Given the description of an element on the screen output the (x, y) to click on. 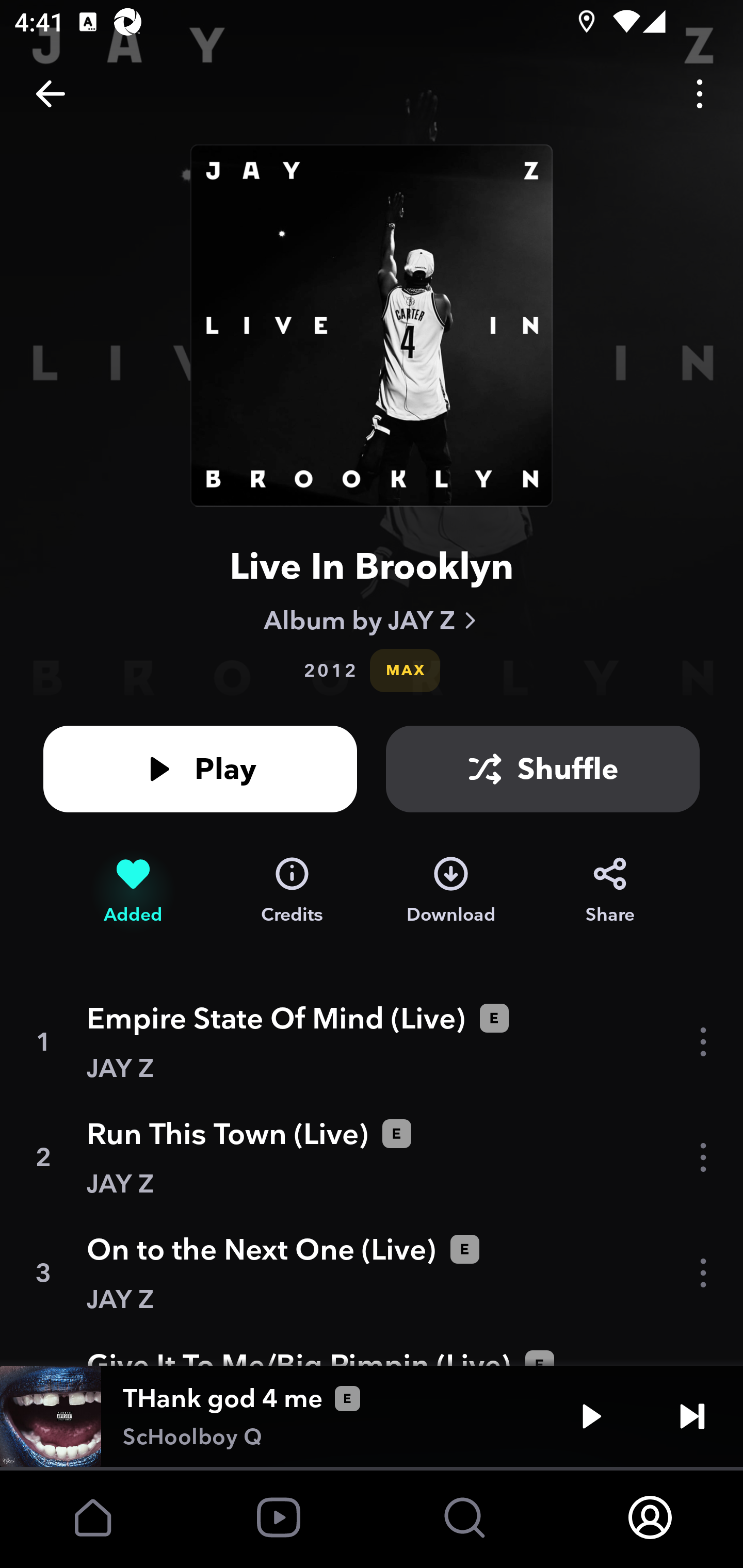
Options (699, 93)
Live In Brooklyn (371, 565)
Album by JAY Z (371, 619)
Play (200, 768)
Shuffle (542, 768)
Remove from My Collection Added (132, 890)
Credits (291, 890)
Download (450, 890)
Share (609, 890)
1 Empire State Of Mind (Live) JAY Z (371, 1041)
2 Run This Town (Live) JAY Z (371, 1157)
3 On to the Next One (Live) JAY Z (371, 1273)
THank god 4 me    ScHoolboy Q Play (371, 1416)
Play (590, 1416)
